Given the description of an element on the screen output the (x, y) to click on. 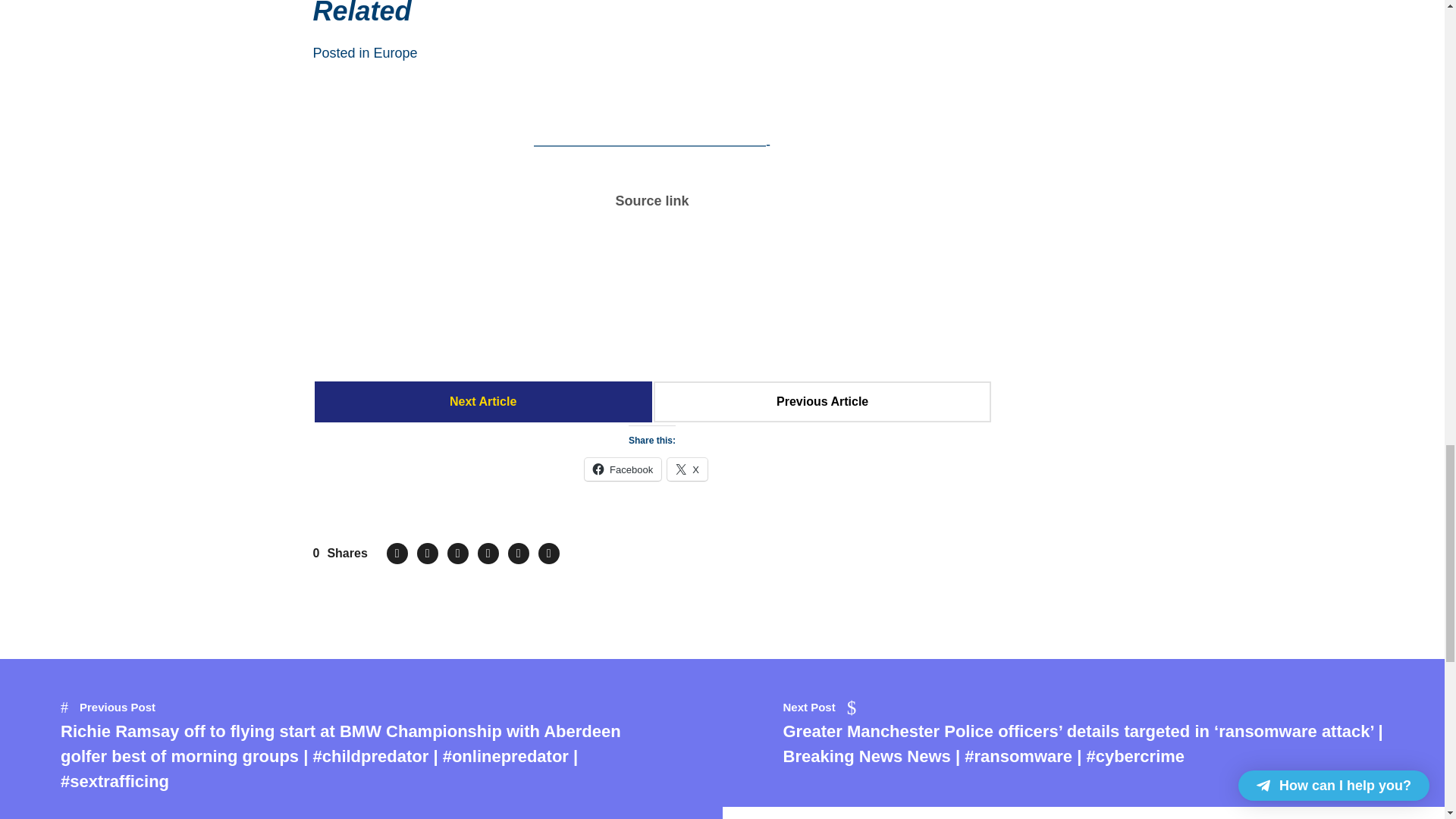
Click to share on X (686, 468)
Advertisement (652, 301)
Click to share on Facebook (623, 468)
